Given the description of an element on the screen output the (x, y) to click on. 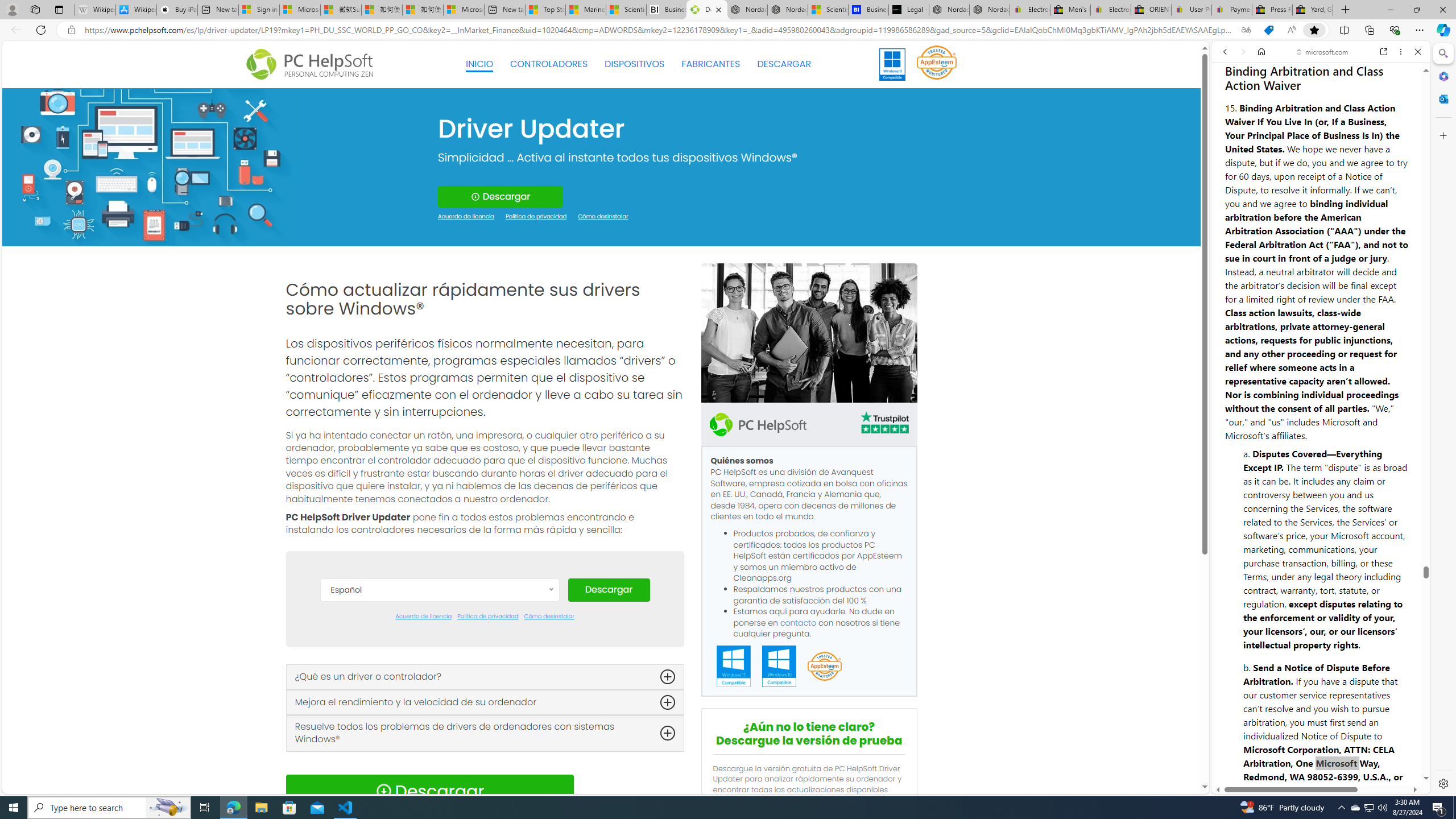
English (439, 695)
Logo Personal Computing (313, 64)
Logo Personal Computing (313, 64)
